Given the description of an element on the screen output the (x, y) to click on. 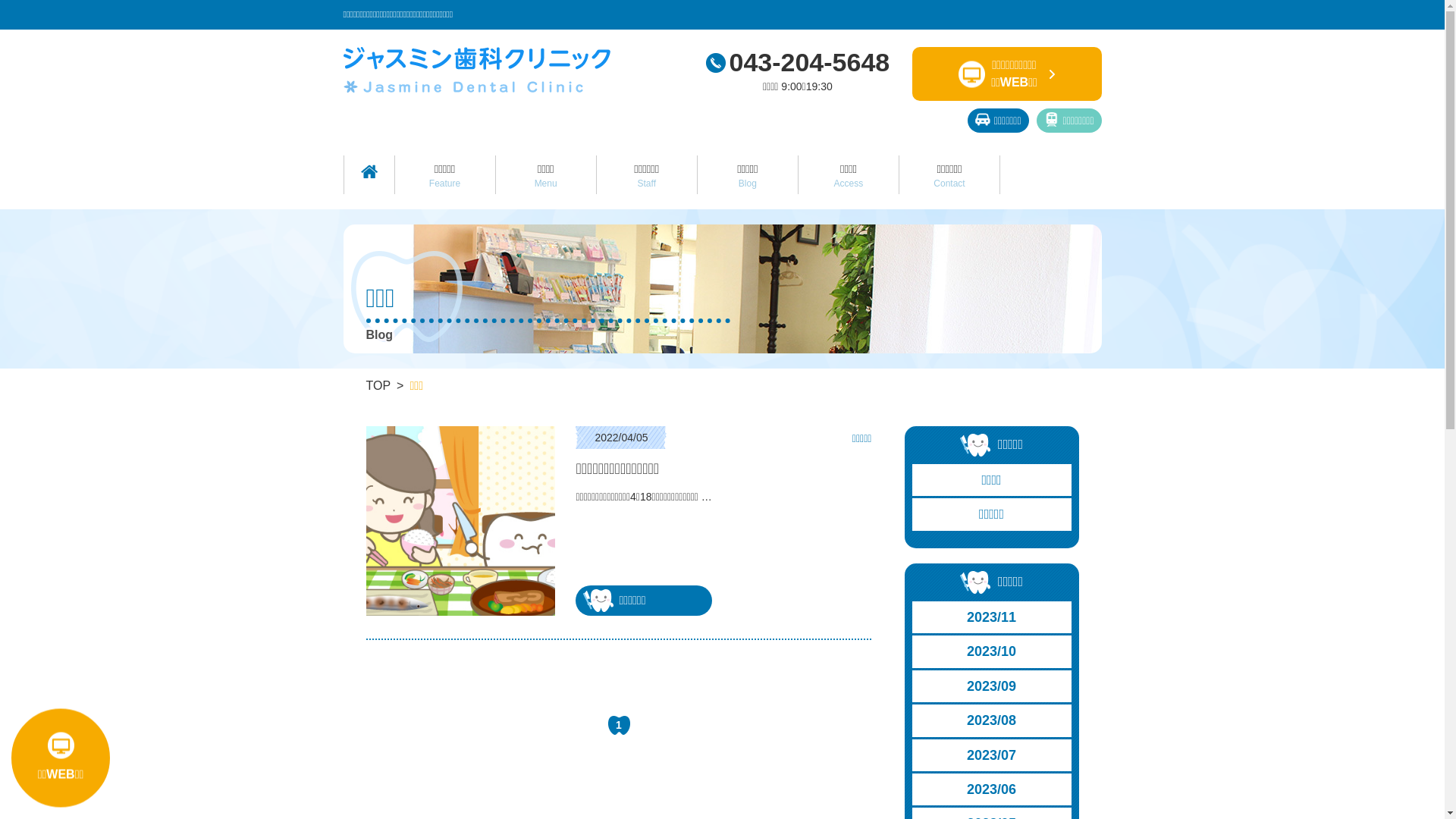
2023/06 Element type: text (991, 789)
043-204-5648 Element type: text (797, 61)
TOP Element type: text (377, 385)
TEL Element type: hover (714, 62)
2023/09 Element type: text (991, 686)
2023/10 Element type: text (991, 651)
2023/11 Element type: text (991, 617)
home Element type: hover (368, 171)
2023/08 Element type: text (991, 720)
> Element type: hover (1051, 73)
1 Element type: text (618, 724)
Tooth Element type: hover (975, 582)
2023/07 Element type: text (991, 755)
Tooth Element type: hover (975, 444)
